Given the description of an element on the screen output the (x, y) to click on. 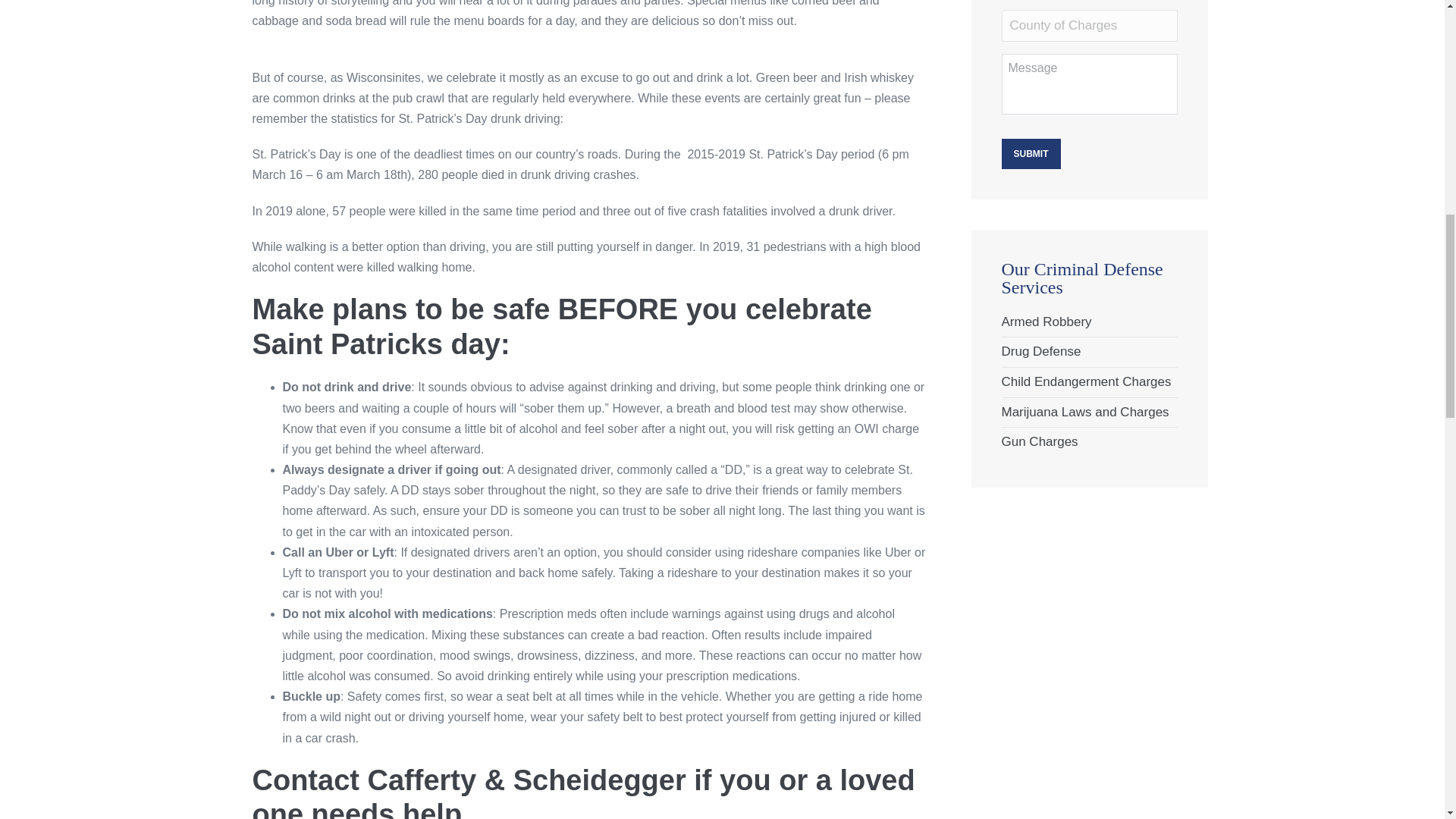
Marijuana Laws and Charges (1085, 411)
Child Endangerment Charges (1085, 381)
Gun Charges (1039, 441)
Armed Robbery (1045, 321)
Drug Defense (1040, 350)
Submit (1030, 153)
